Given the description of an element on the screen output the (x, y) to click on. 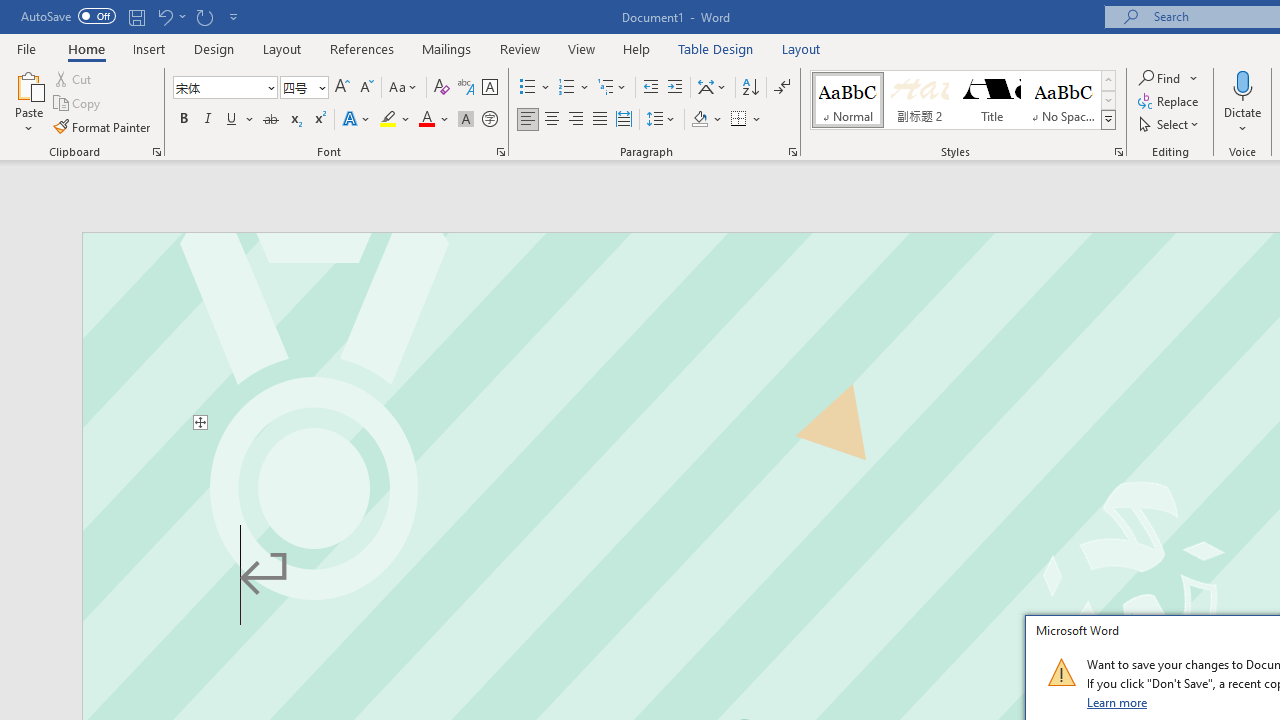
Select (1170, 124)
